Given the description of an element on the screen output the (x, y) to click on. 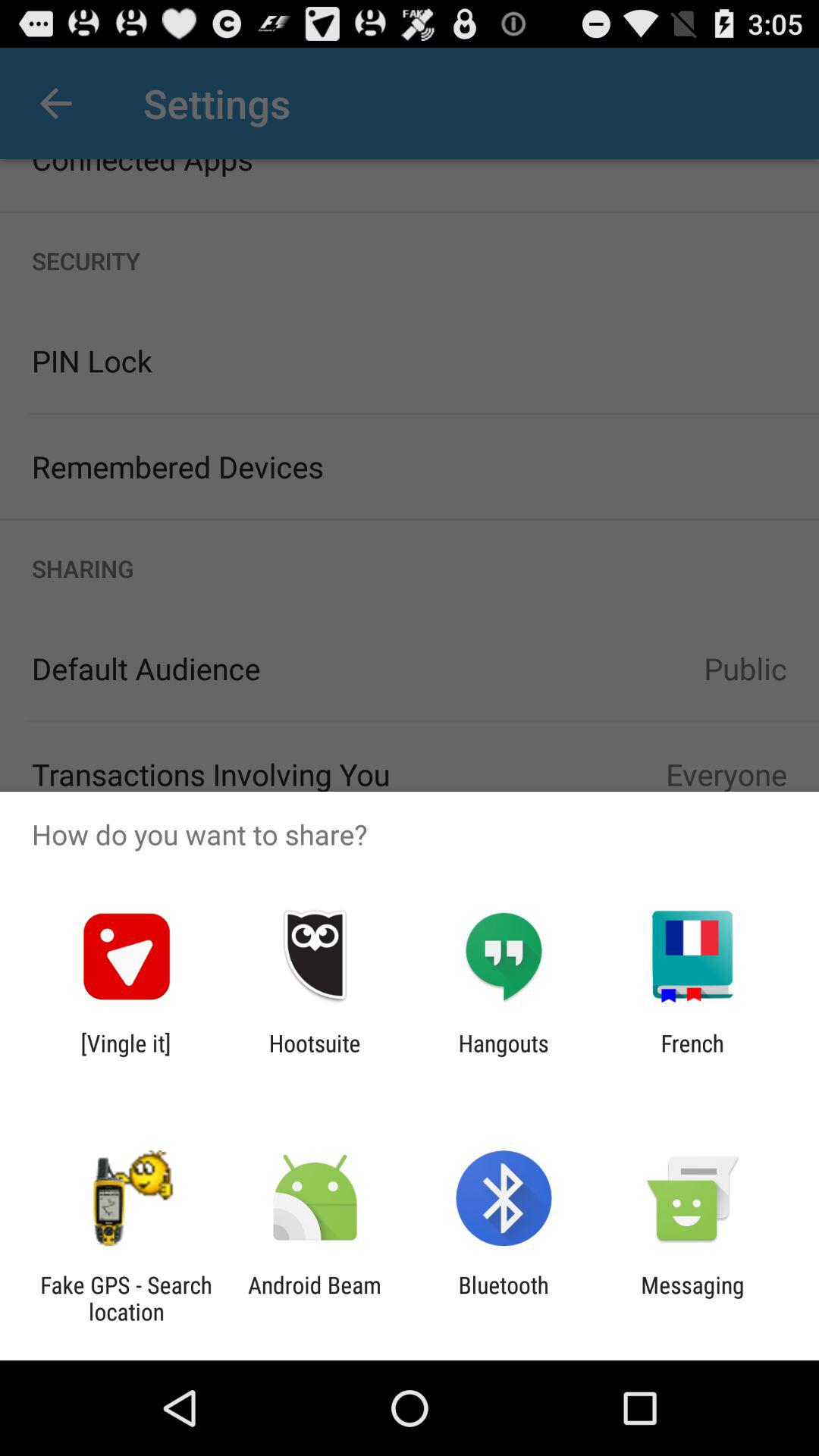
turn off the icon next to the android beam (125, 1298)
